Given the description of an element on the screen output the (x, y) to click on. 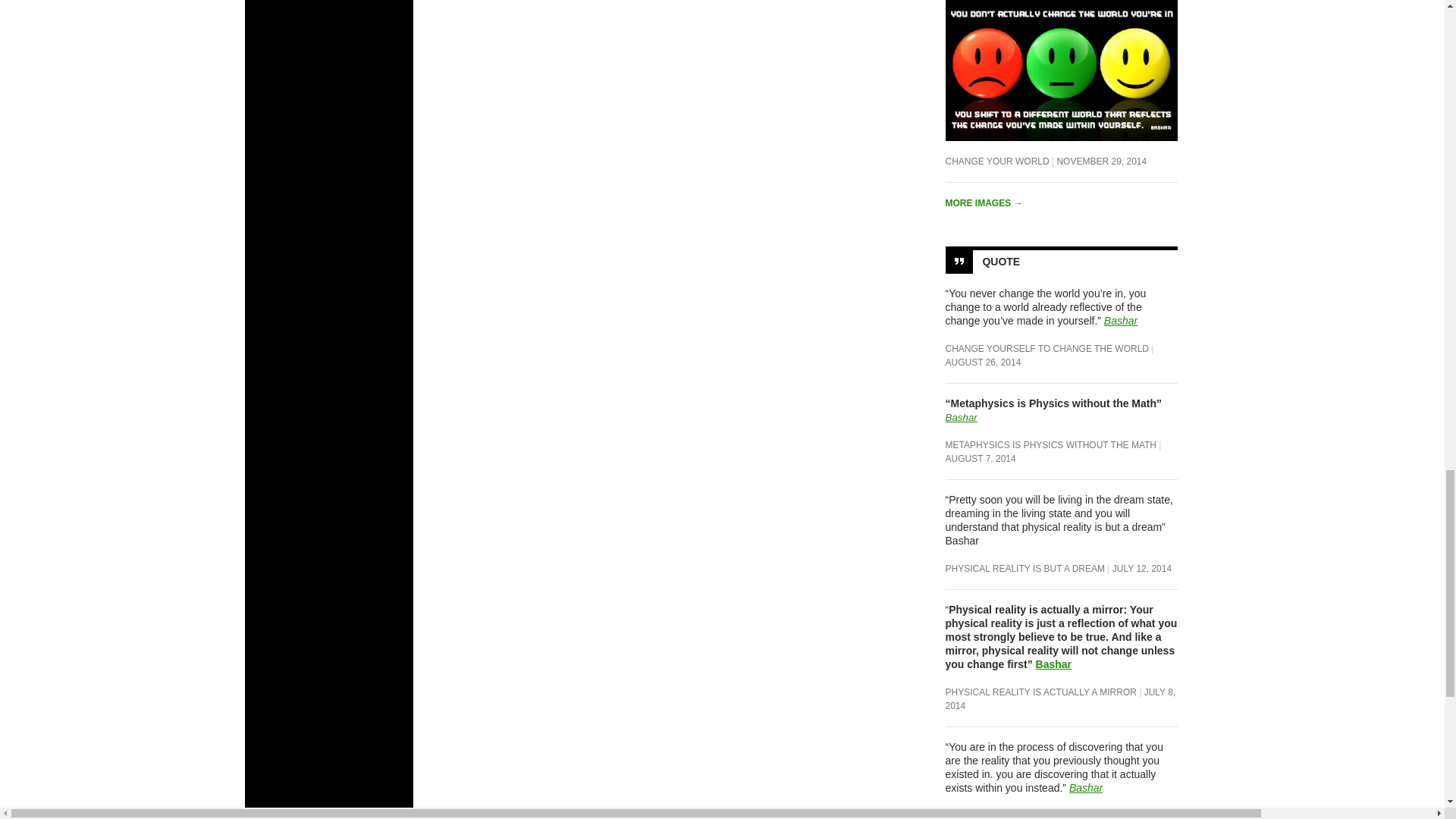
Bashar (960, 417)
Bashar (1120, 320)
Bashar.org (1085, 787)
